Given the description of an element on the screen output the (x, y) to click on. 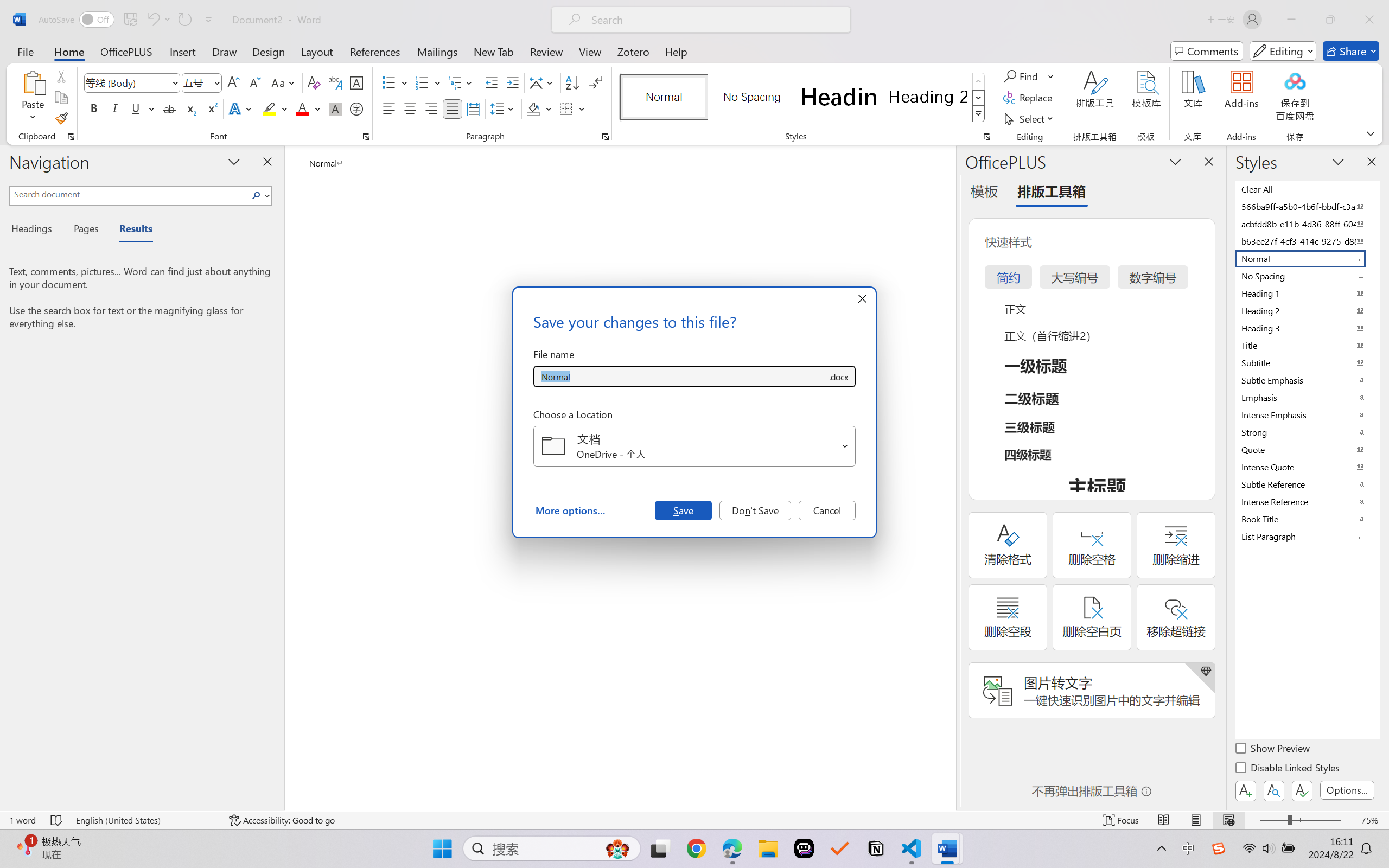
Distributed (473, 108)
Draw (224, 51)
Zotero (632, 51)
Strikethrough (169, 108)
Subscript (190, 108)
Shrink Font (253, 82)
Don't Save (755, 509)
Replace... (1029, 97)
